Given the description of an element on the screen output the (x, y) to click on. 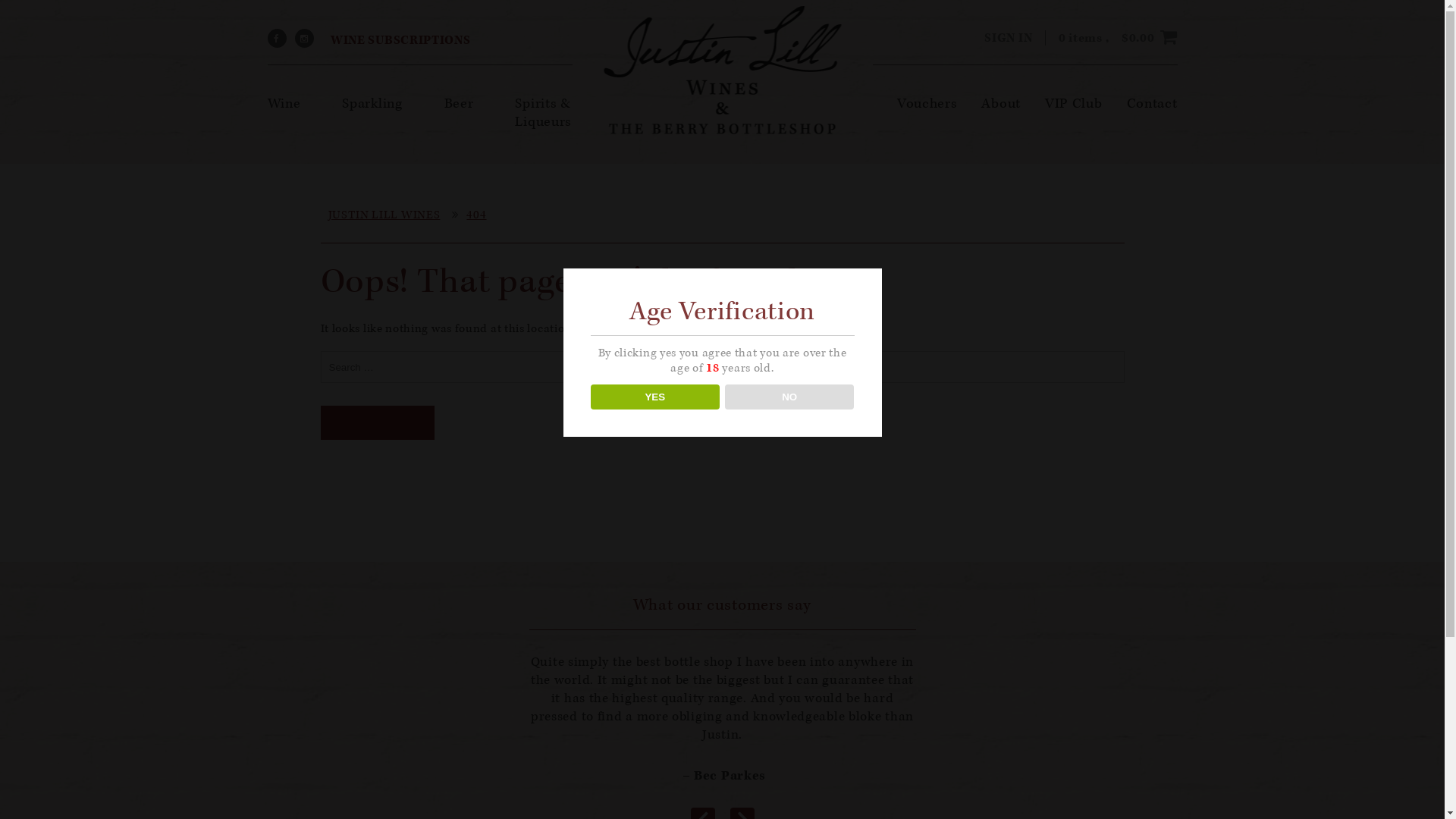
Beer Element type: text (458, 103)
YES Element type: text (655, 396)
Wine Element type: text (283, 103)
Search Element type: text (376, 422)
Spirits & Liqueurs Element type: text (542, 112)
Vouchers Element type: text (927, 103)
About Element type: text (1000, 103)
NO Element type: text (789, 396)
Search for: Element type: hover (721, 366)
WINE SUBSCRIPTIONS Element type: text (396, 39)
JUSTIN LILL WINES Element type: text (383, 214)
Sparkling Element type: text (371, 103)
Justin Lill Wines Element type: hover (721, 70)
VIP Club Element type: text (1073, 103)
Contact Element type: text (1151, 103)
0 items , $0.00 Element type: text (1117, 37)
SIGN IN Element type: text (1008, 37)
